Given the description of an element on the screen output the (x, y) to click on. 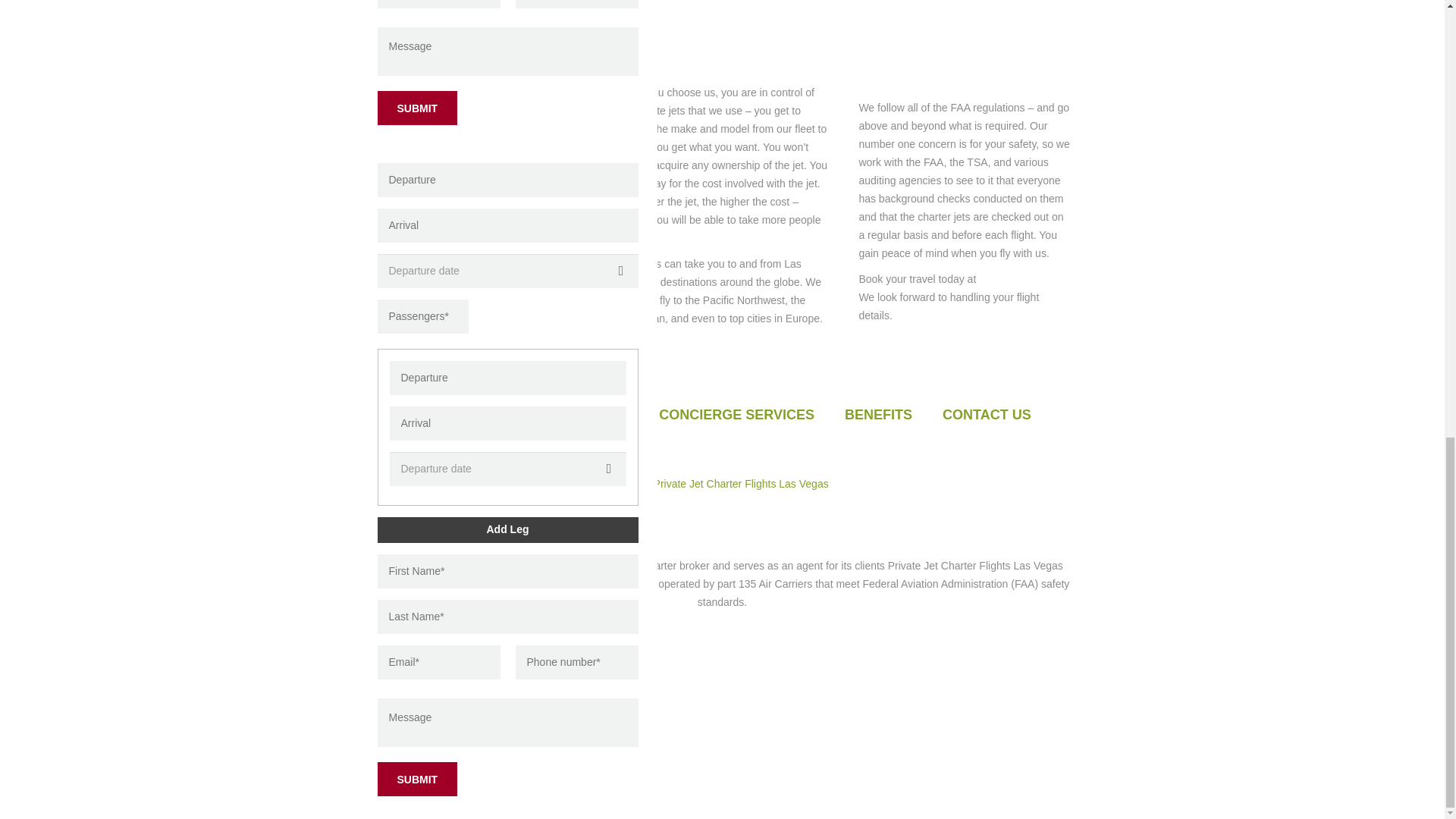
BENEFITS (878, 414)
ABS.Digital (795, 509)
Submit (417, 107)
ABOUT US (448, 414)
Submit (417, 779)
1.702.441.0705 (1015, 278)
WordPress website development (692, 509)
CONTACT US (986, 414)
Submit (417, 107)
CONCIERGE SERVICES (736, 414)
1.702.441.0705 (866, 465)
CHARTER FLEET (571, 414)
Private Jet Charter Flights Las Vegas (740, 483)
